Given the description of an element on the screen output the (x, y) to click on. 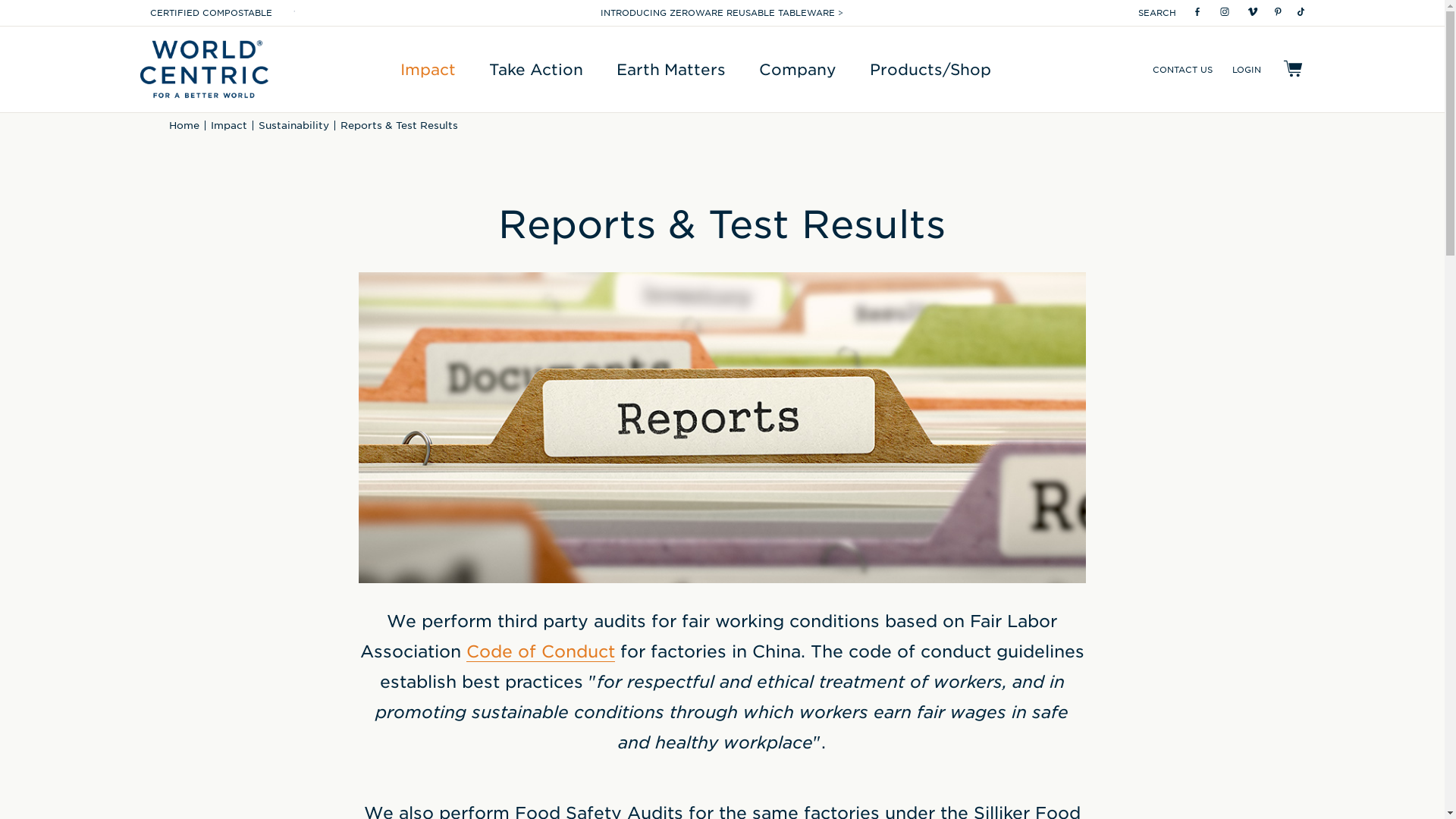
SEARCH (1157, 12)
Earth Matters (670, 68)
Take Action (536, 68)
CERTIFIED COMPOSTABLE (210, 12)
CONTACT US (1182, 68)
Impact (427, 68)
Company (796, 68)
